Given the description of an element on the screen output the (x, y) to click on. 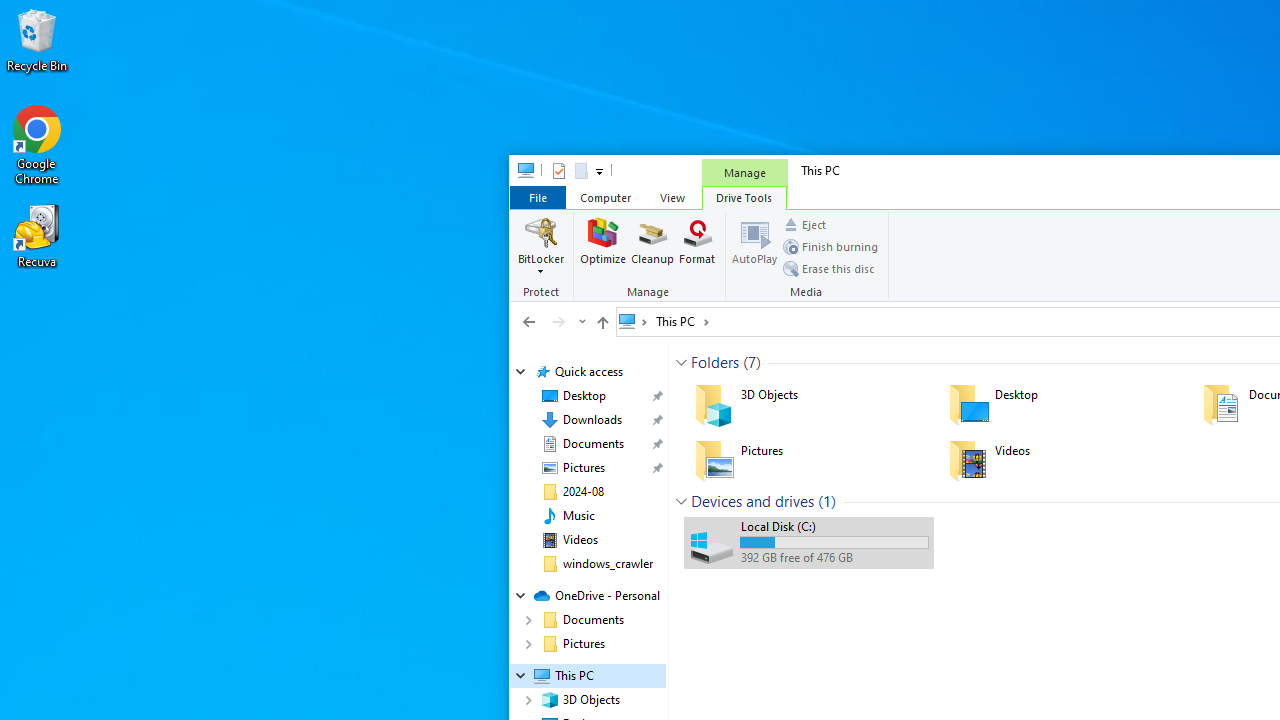
Collapse Group (681, 501)
Videos (580, 539)
Up to "Desktop" (Alt + Up Arrow) (602, 322)
Back to Local Disk (C:) (Alt + Left Arrow) (529, 321)
Cleanup (652, 246)
This PC (682, 321)
View (672, 196)
Quick access (588, 371)
Count (827, 501)
System (520, 173)
windows_crawler (607, 564)
Eject (804, 224)
Manage (744, 172)
Recent locations (580, 321)
Manage (650, 255)
